Given the description of an element on the screen output the (x, y) to click on. 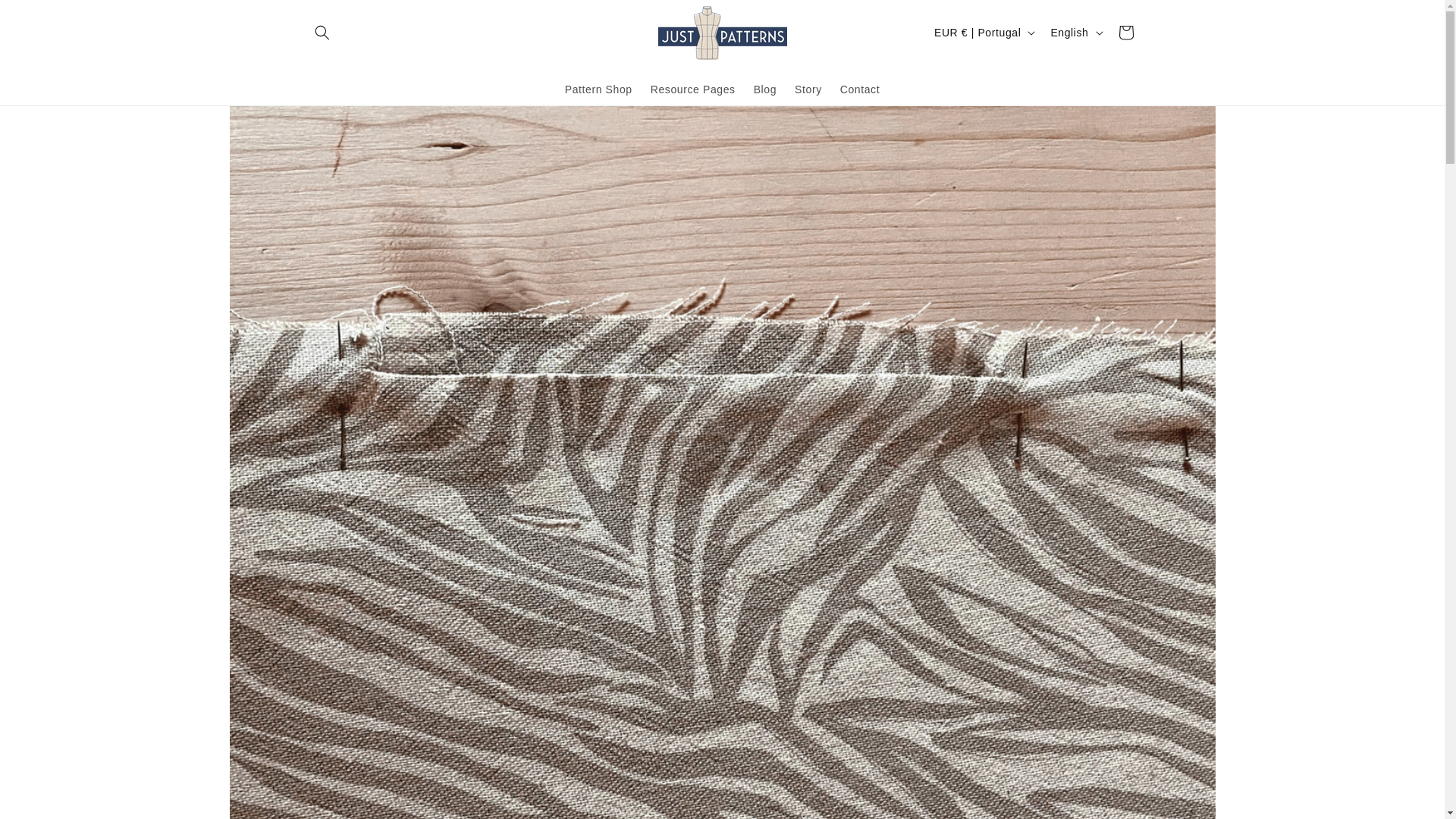
English (1074, 32)
Story (808, 88)
Resource Pages (693, 88)
Cart (1124, 32)
Skip to content (45, 17)
Contact (859, 88)
Blog (765, 88)
Pattern Shop (599, 88)
